Given the description of an element on the screen output the (x, y) to click on. 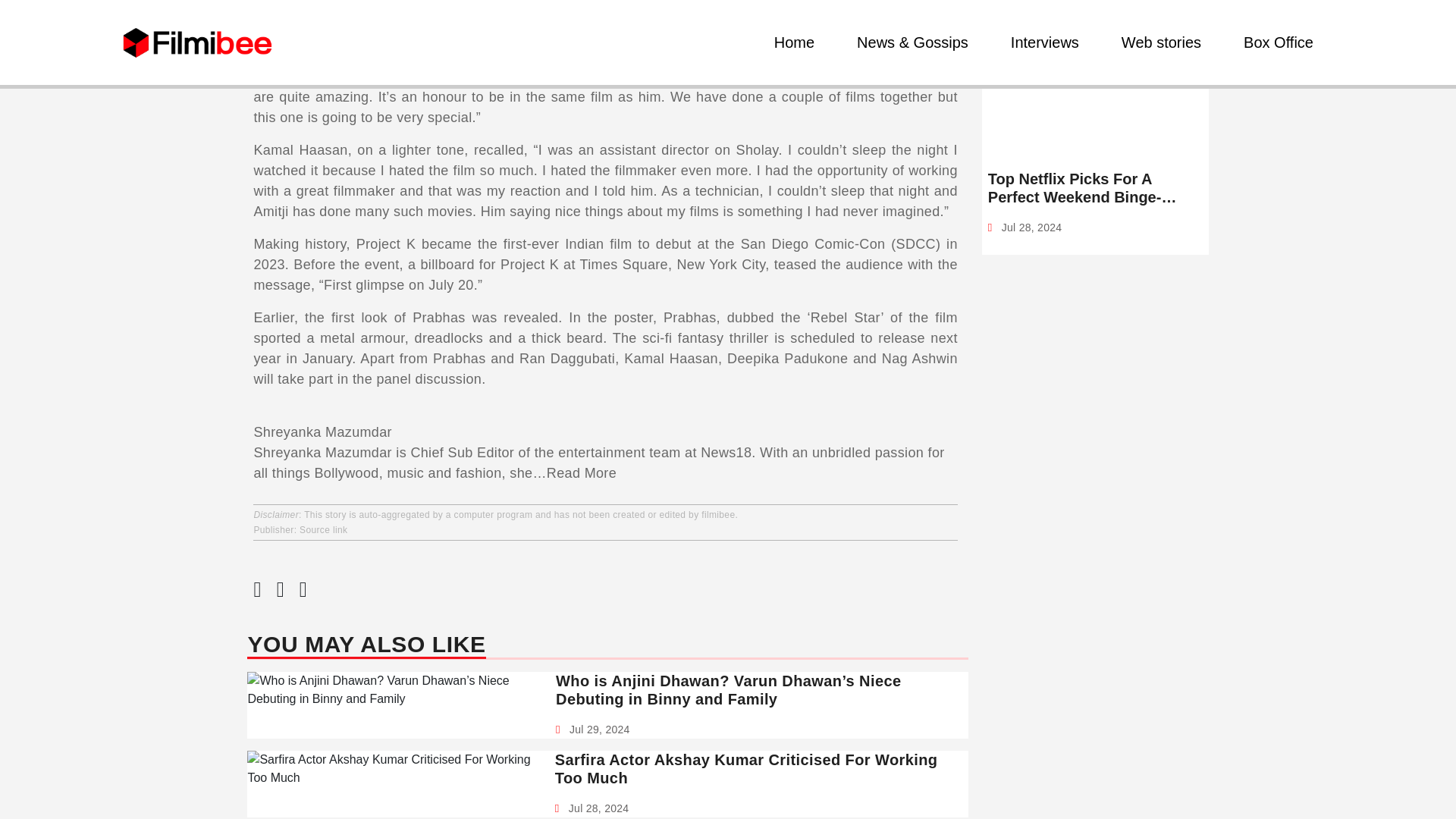
Sarfira Actor Akshay Kumar Criticised For Working Too Much (755, 769)
Source link (323, 529)
Top Netflix Picks For A Perfect Weekend Binge-Watch (1095, 187)
Sarfira Actor Akshay Kumar Criticised For Working Too Much (755, 769)
